Given the description of an element on the screen output the (x, y) to click on. 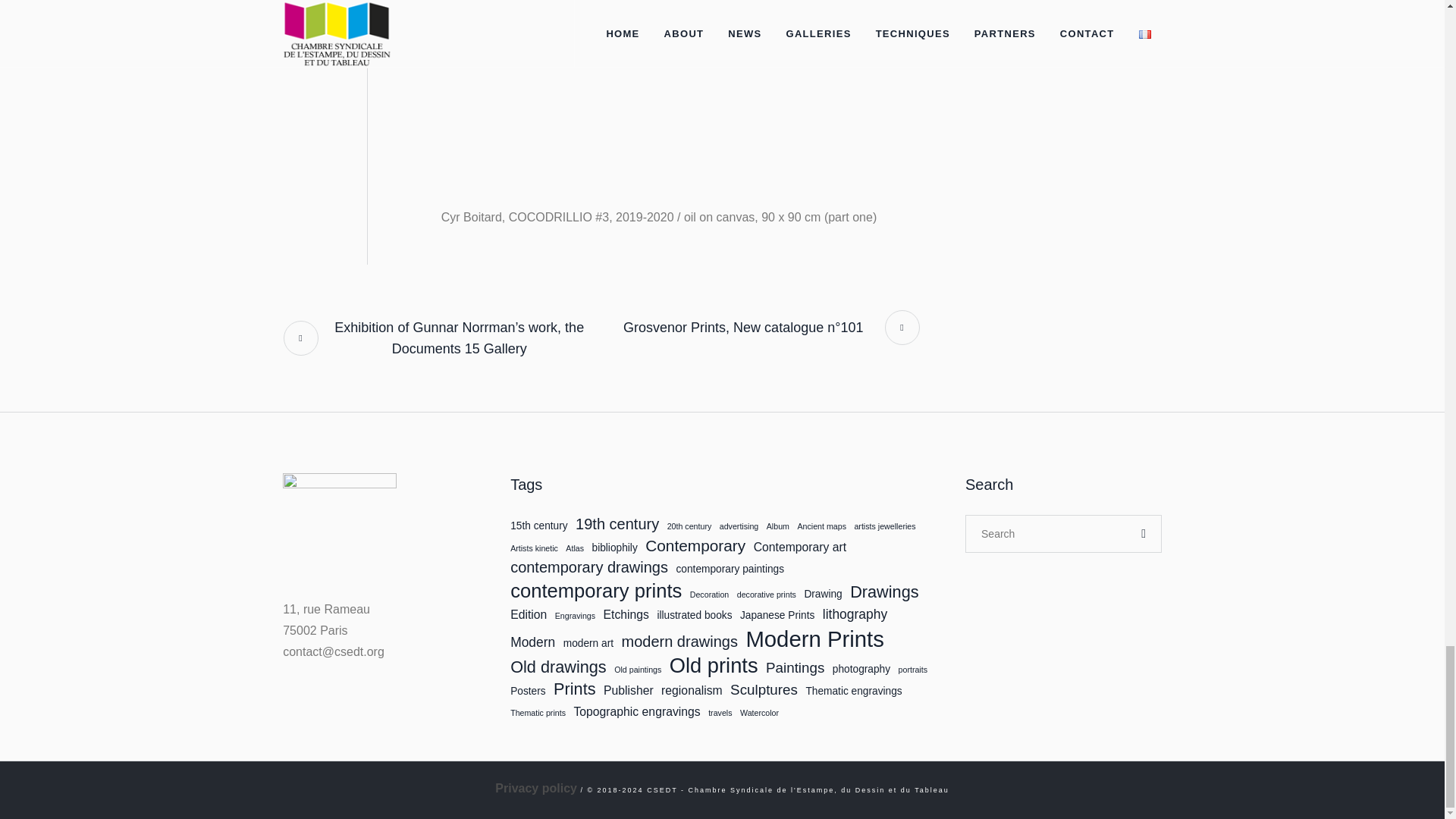
Atlas (574, 548)
20th century (688, 526)
Ancient maps (820, 526)
Artists kinetic (534, 548)
contemporary paintings (729, 569)
bibliophily (614, 548)
19th century (617, 524)
artists jewelleries (884, 526)
15th century (539, 526)
Contemporary (695, 545)
Contemporary art (800, 547)
Album (778, 526)
advertising (738, 526)
contemporary drawings (589, 566)
